Given the description of an element on the screen output the (x, y) to click on. 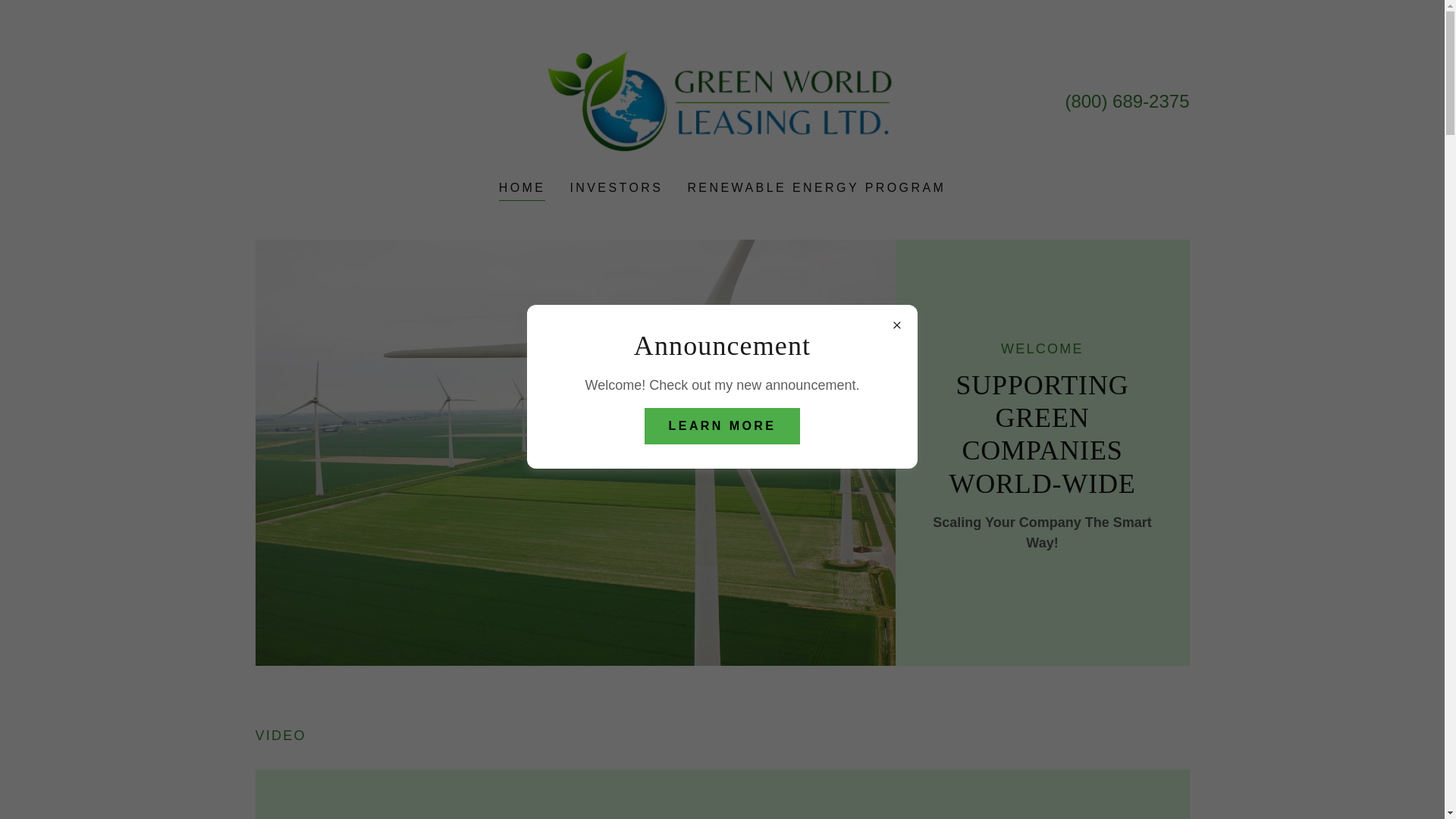
HOME (522, 189)
LEARN MORE (722, 425)
INVESTORS (615, 187)
RENEWABLE ENERGY PROGRAM (816, 187)
Green World Leasing LTD. (721, 100)
